Given the description of an element on the screen output the (x, y) to click on. 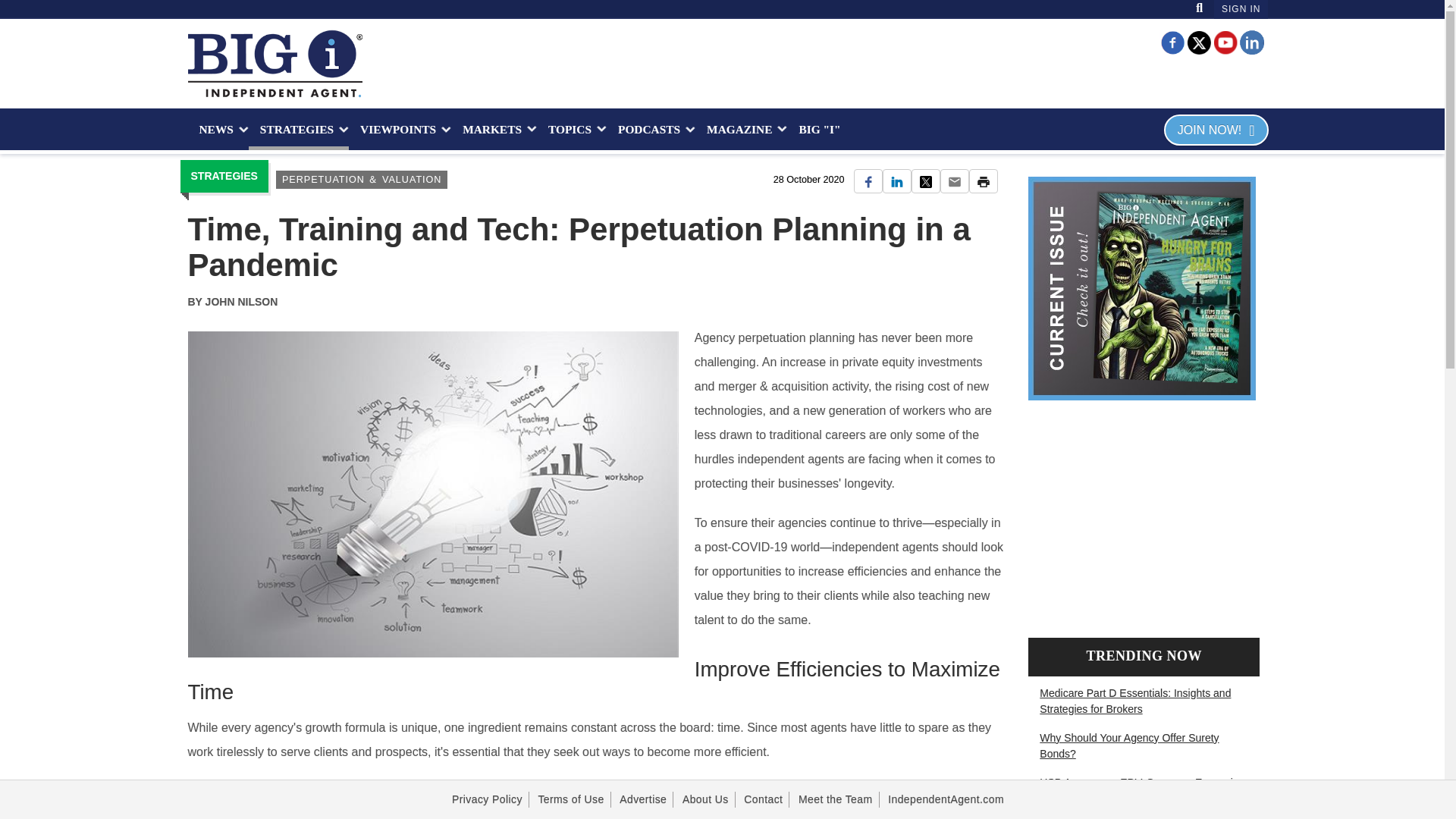
JOIN NOW! (1215, 129)
STRATEGIES (298, 128)
Facebook (1172, 41)
Sign In to access benefits (1241, 9)
MARKETS (494, 128)
Home (274, 63)
NEWS (217, 128)
SIGN IN (1241, 9)
VIEWPOINTS (400, 128)
LinkedIn (1252, 41)
